Given the description of an element on the screen output the (x, y) to click on. 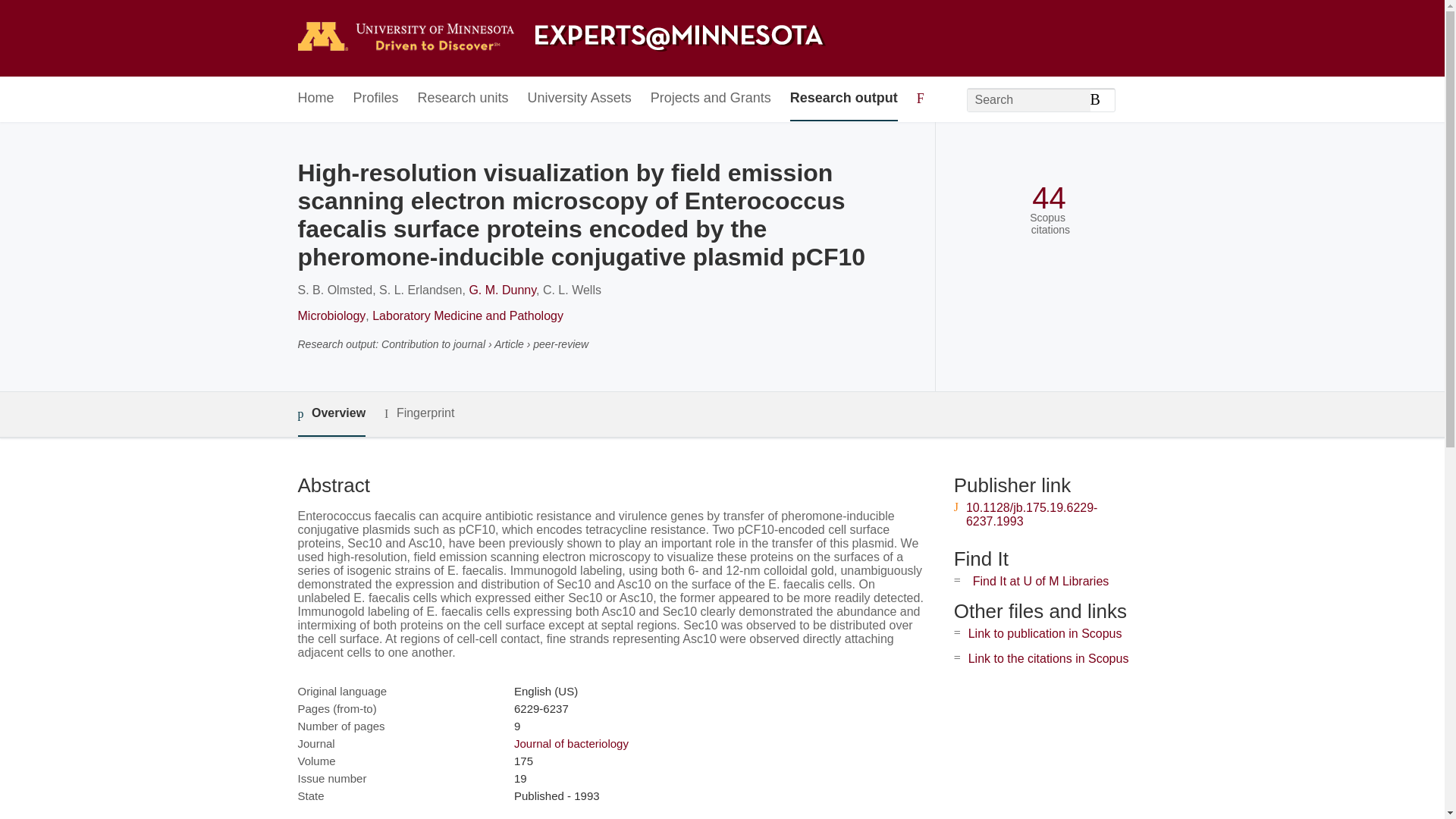
Research units (462, 98)
Projects and Grants (710, 98)
University Assets (579, 98)
Link to publication in Scopus (1045, 633)
Journal of bacteriology (570, 743)
Fingerprint (419, 413)
Profiles (375, 98)
Laboratory Medicine and Pathology (467, 315)
Overview (331, 414)
44 (1048, 198)
Microbiology (331, 315)
Link to the citations in Scopus (1048, 658)
Research output (844, 98)
Find It at U of M Libraries (1040, 581)
